Given the description of an element on the screen output the (x, y) to click on. 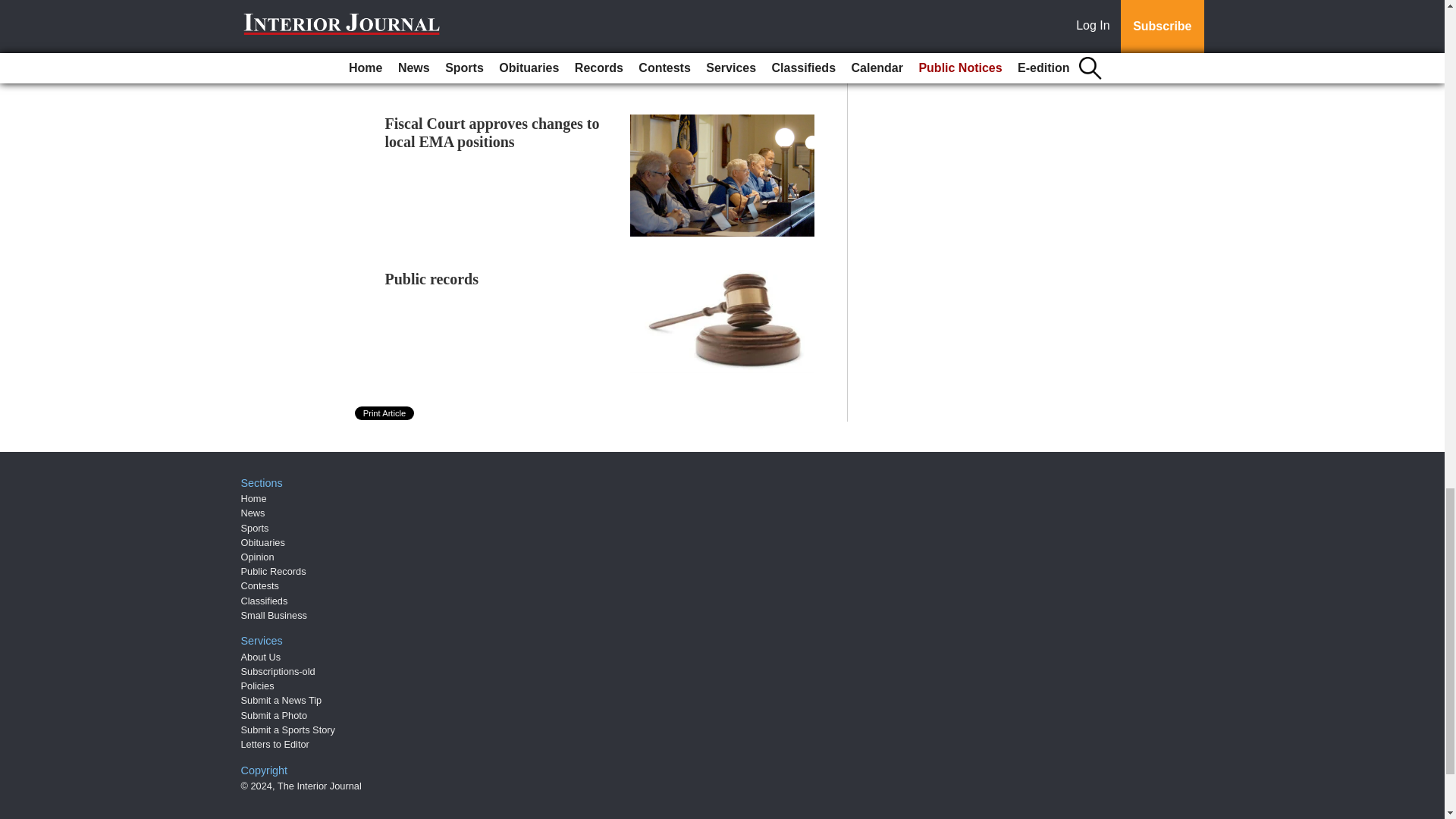
Sports (255, 527)
Home (253, 498)
Fiscal Court approves changes to local EMA positions (492, 132)
Opinion (258, 556)
Print Article (384, 413)
Public records (432, 279)
News (252, 512)
Obituaries (263, 542)
Fiscal Court approves changes to local EMA positions (492, 132)
Public records (432, 279)
